Given the description of an element on the screen output the (x, y) to click on. 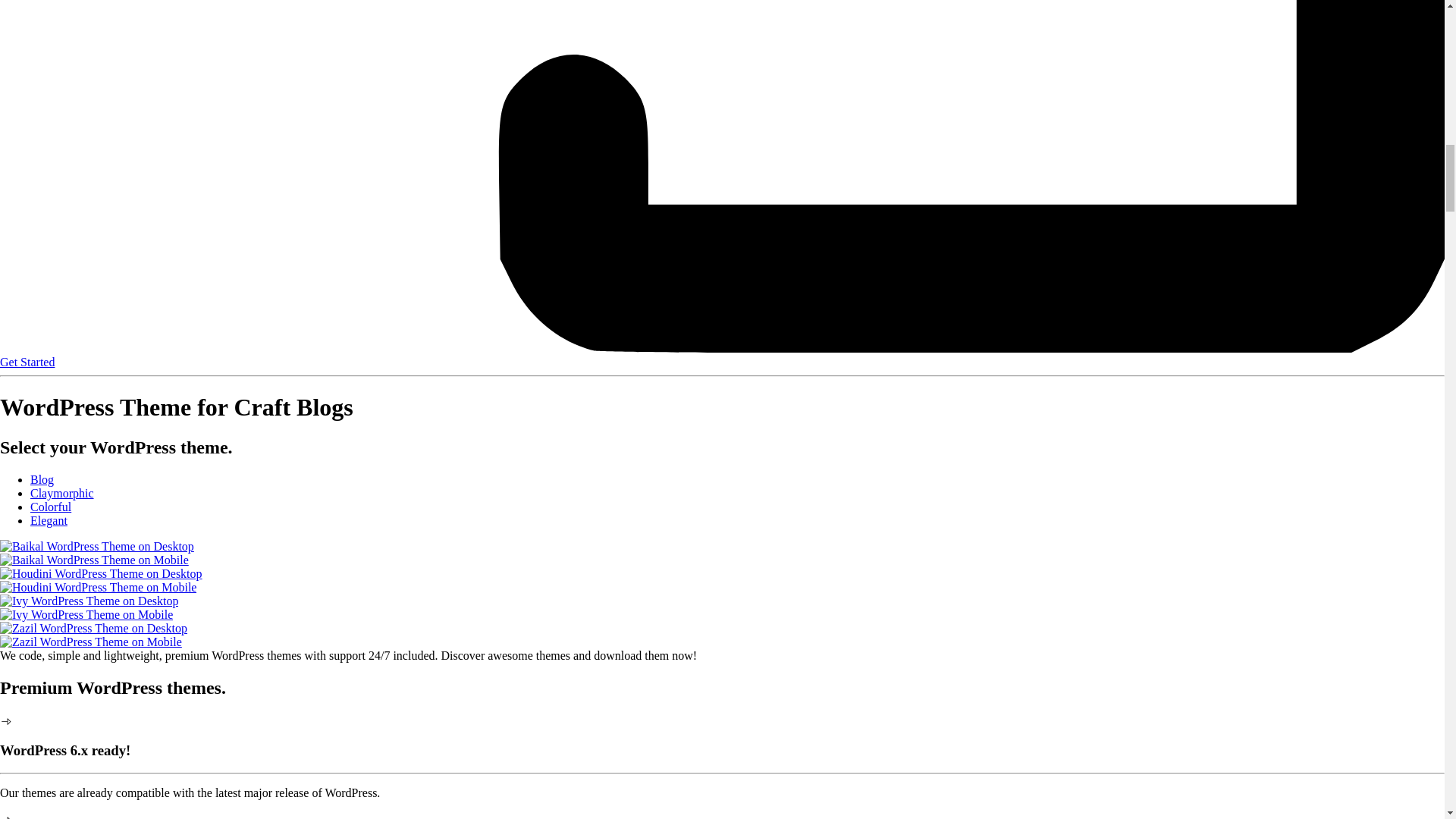
Claymorphic (62, 492)
Blog (41, 479)
Colorful (50, 506)
Elegant (48, 520)
Get Started (27, 361)
